Given the description of an element on the screen output the (x, y) to click on. 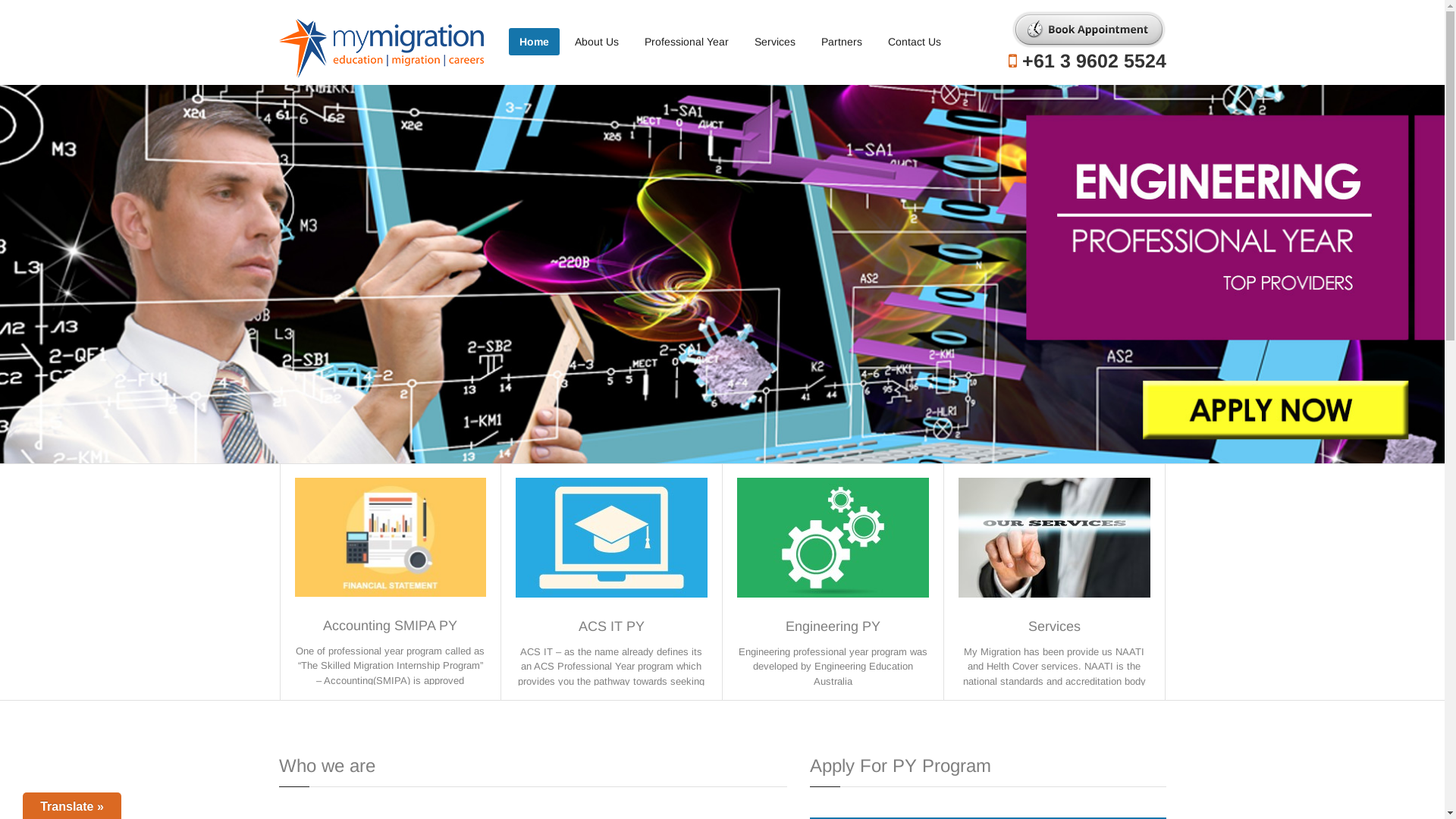
Partners Element type: text (840, 41)
Contact Us Element type: text (913, 41)
My Professional Year Element type: hover (381, 45)
About Us Element type: text (596, 41)
Professional Year Element type: text (686, 41)
Services Element type: text (774, 41)
Home Element type: text (533, 41)
